Given the description of an element on the screen output the (x, y) to click on. 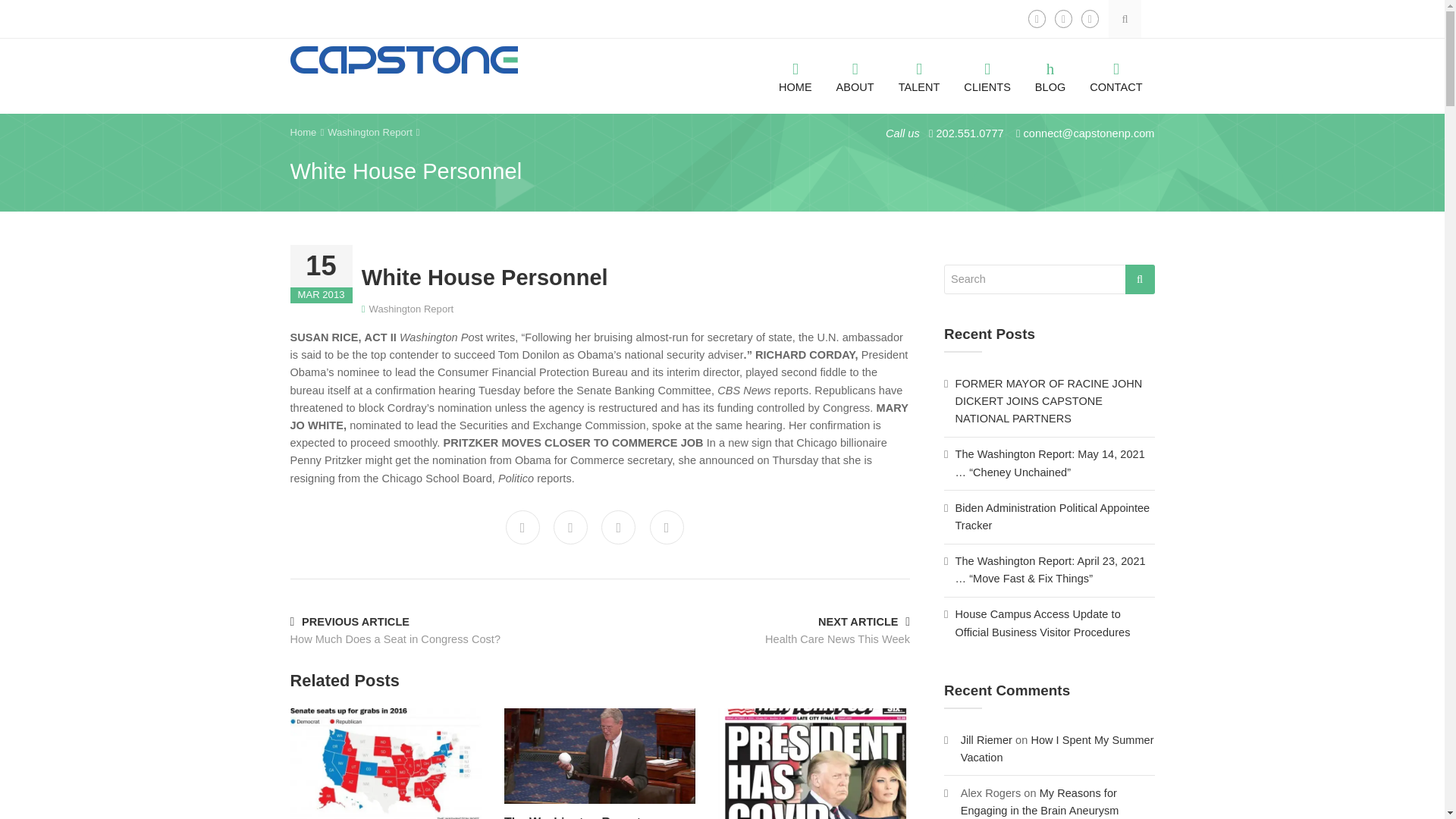
Blog (1050, 65)
About (855, 65)
Twitter (570, 527)
Facebook (1036, 18)
Washington Report (369, 132)
Home (795, 65)
Home (302, 132)
LinkedIn (1090, 18)
Washington Report (411, 308)
Clients (987, 65)
HOME (795, 65)
Talent (919, 65)
CONTACT (1115, 65)
TALENT (919, 65)
202.551.0777 (965, 133)
